Given the description of an element on the screen output the (x, y) to click on. 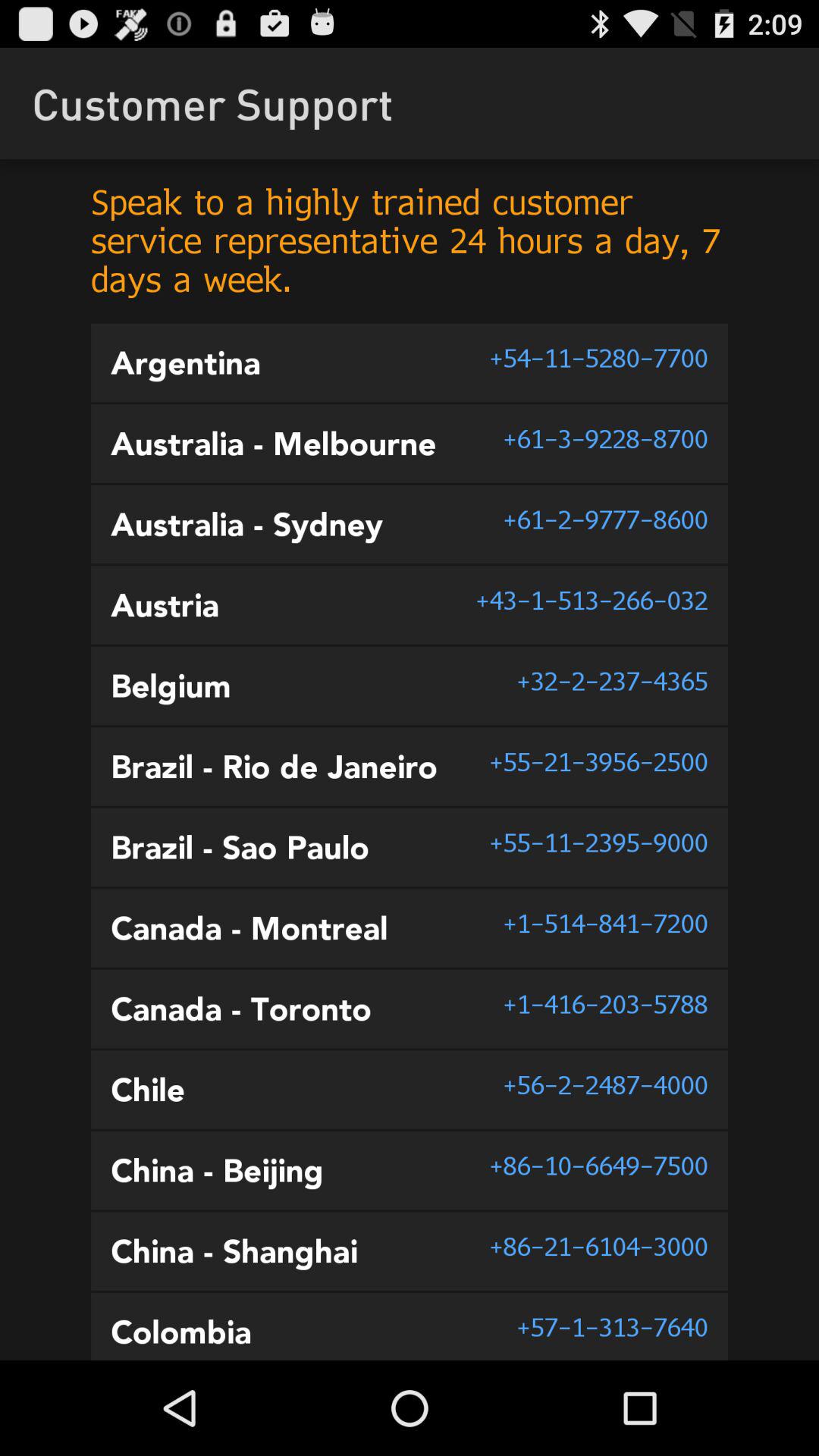
tap item next to the australia - sydney (605, 519)
